Given the description of an element on the screen output the (x, y) to click on. 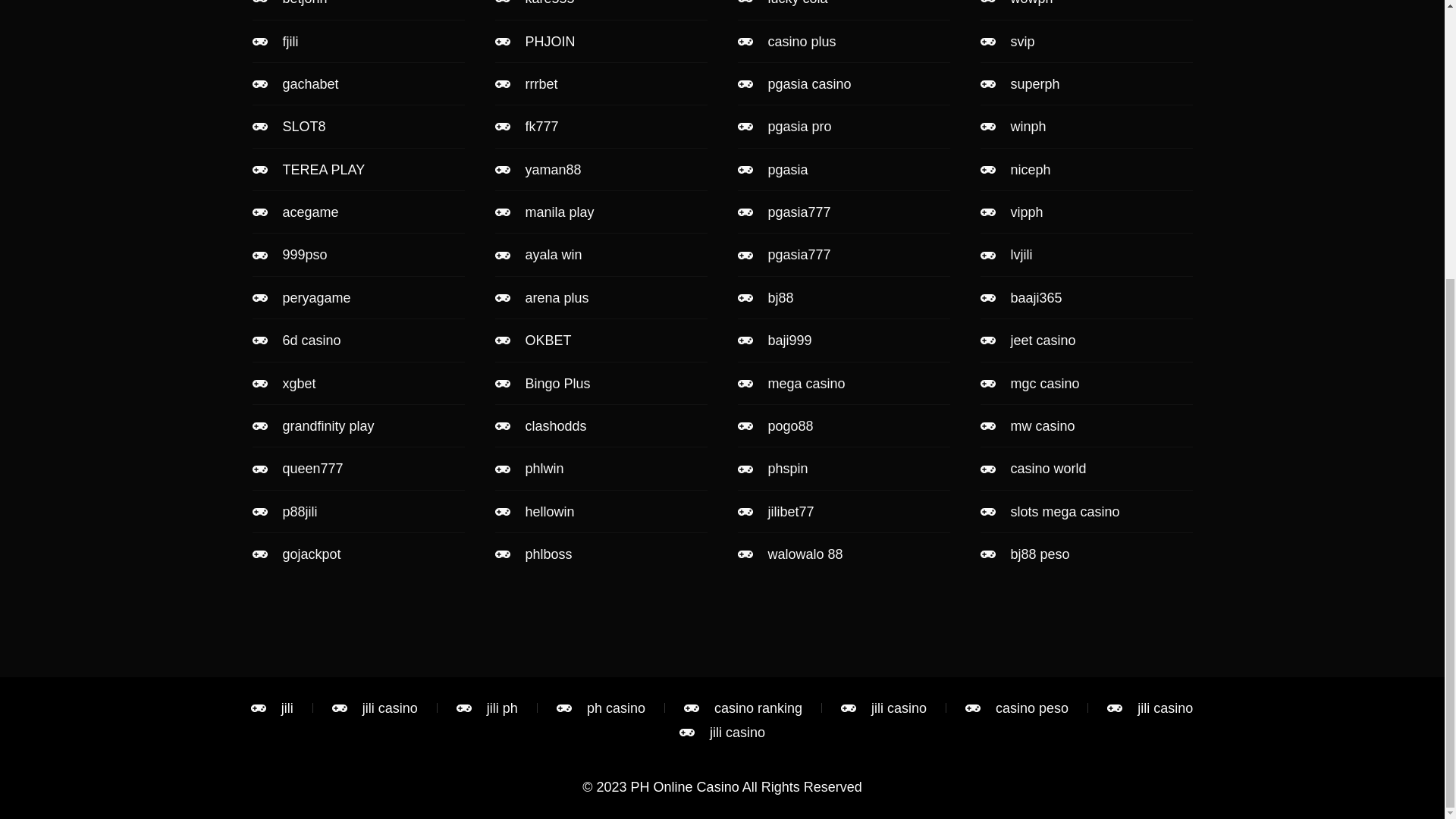
rrrbet (600, 84)
pgasia casino (842, 84)
TEREA PLAY (357, 169)
peryagame (357, 297)
acegame (357, 211)
PHJOIN (600, 41)
kare555 (600, 5)
gojackpot (357, 554)
arena plus (600, 297)
Bingo Plus (600, 383)
